Given the description of an element on the screen output the (x, y) to click on. 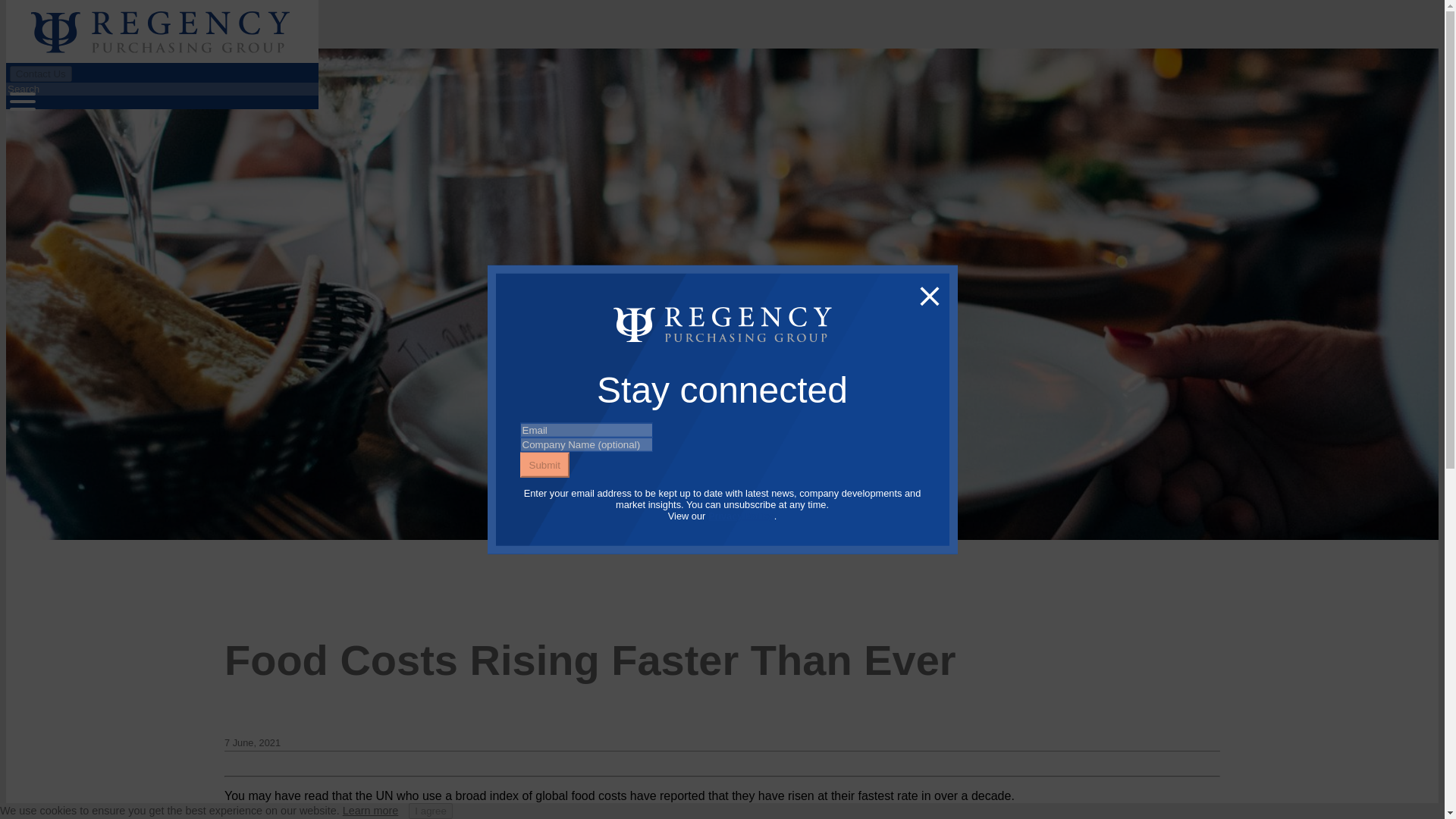
Contact Us (40, 72)
Contact Us (40, 73)
Submit (544, 464)
